Given the description of an element on the screen output the (x, y) to click on. 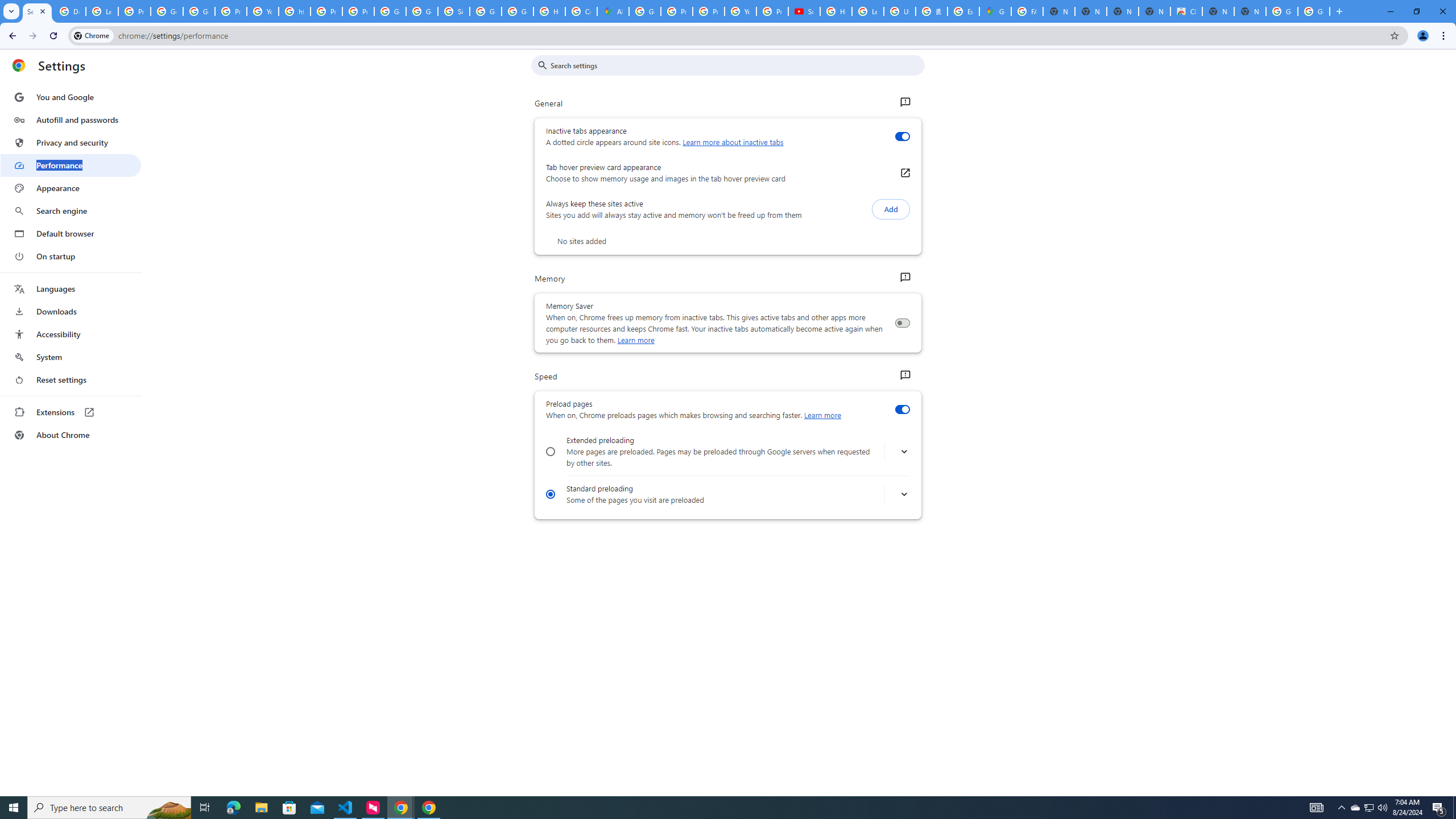
Autofill and passwords (70, 119)
On startup (70, 255)
Memory Saver (901, 323)
YouTube (262, 11)
Privacy and security (70, 142)
Privacy Help Center - Policies Help (676, 11)
Subscriptions - YouTube (804, 11)
Learn more about inactive tabs (732, 141)
Accessibility (70, 333)
Default browser (70, 233)
General (904, 102)
Downloads (70, 311)
